Given the description of an element on the screen output the (x, y) to click on. 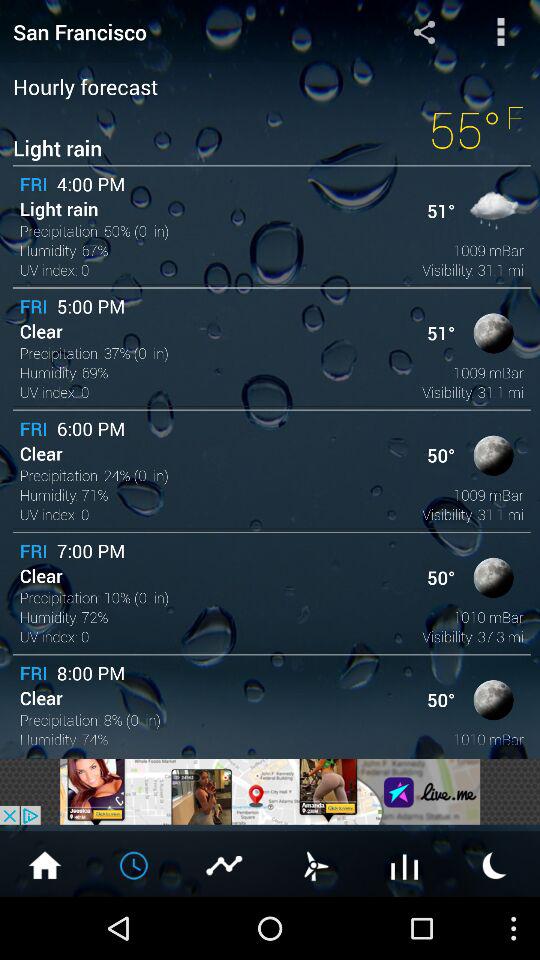
new advertisements (270, 791)
